Given the description of an element on the screen output the (x, y) to click on. 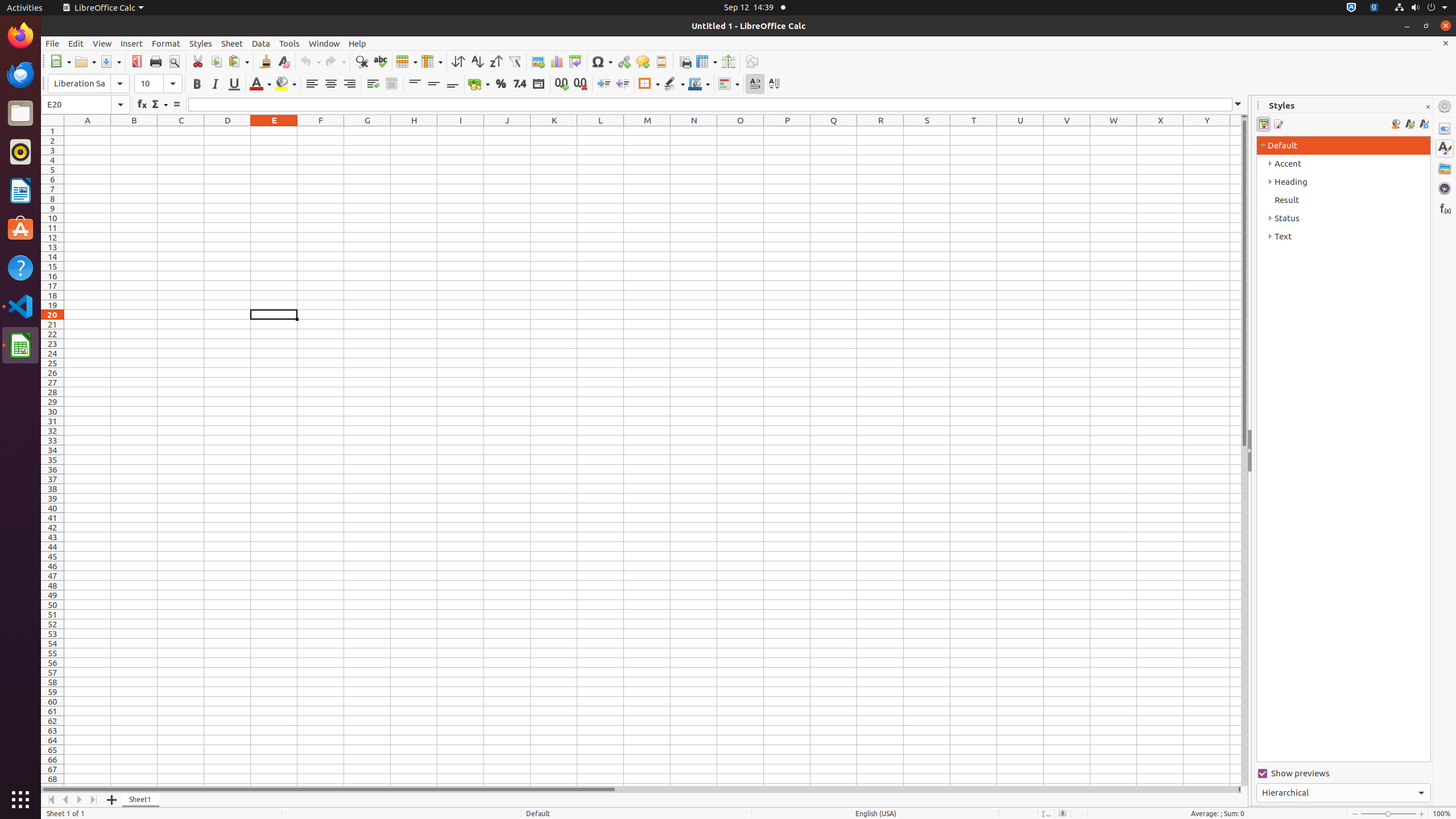
View Element type: menu (102, 43)
Name Box Element type: combo-box (85, 104)
L1 Element type: table-cell (600, 130)
Properties Element type: radio-button (1444, 128)
Insert Element type: menu (131, 43)
